Given the description of an element on the screen output the (x, y) to click on. 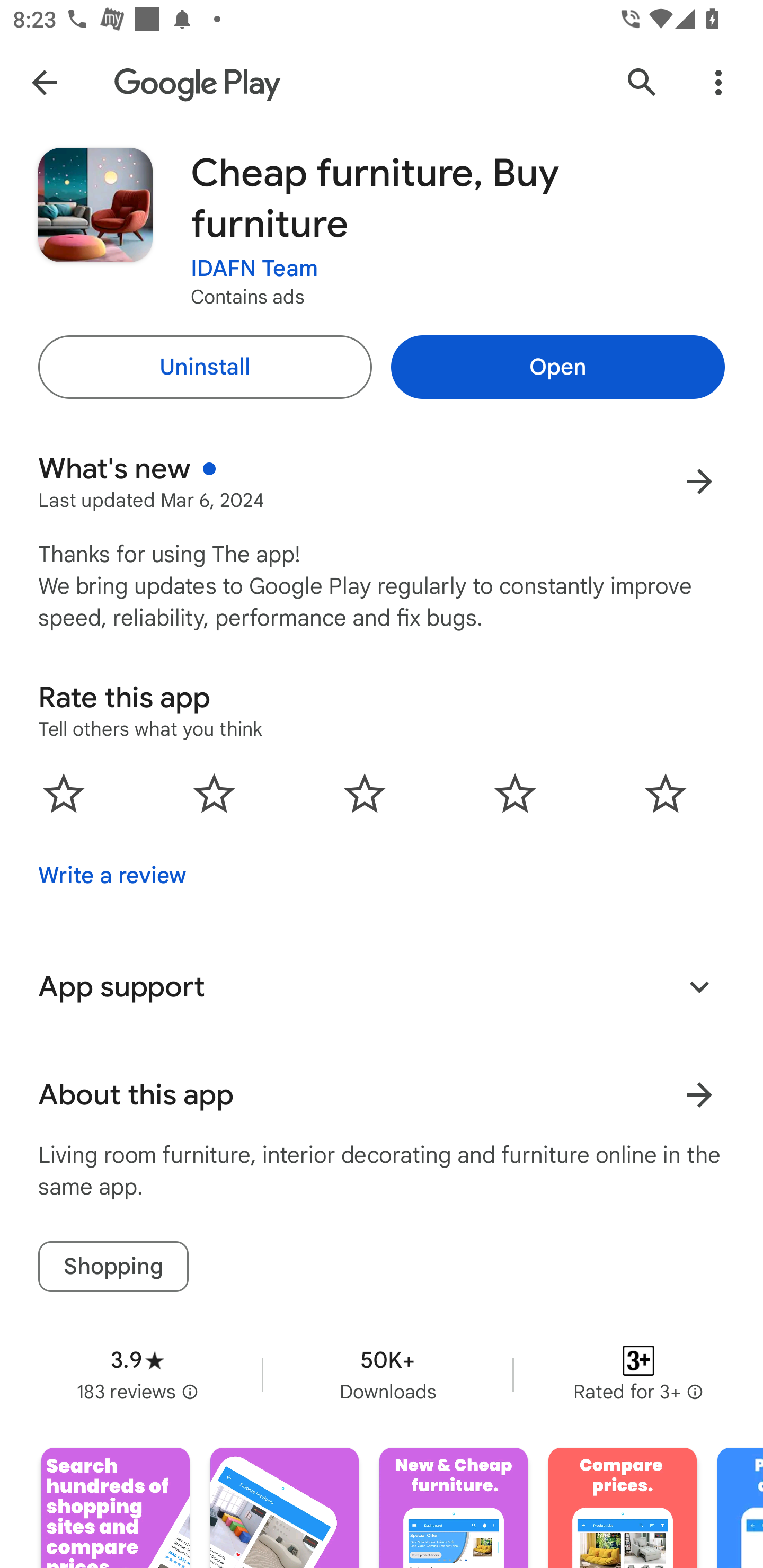
Navigate up (44, 81)
Search Google Play (642, 81)
More Options (718, 81)
IDAFN Team (254, 268)
Uninstall (205, 366)
Open (557, 366)
More results for What's new (699, 481)
0.0 (364, 792)
Write a review (112, 875)
App support Expand (381, 986)
Expand (699, 986)
About this app Learn more About this app (381, 1094)
Learn more About this app (699, 1094)
Shopping tag (113, 1265)
Average rating 3.9 stars in 183 reviews (137, 1374)
Content rating Rated for 3+ (638, 1374)
Screenshot "1" of "7" (115, 1507)
Screenshot "2" of "7" (284, 1507)
Screenshot "3" of "7" (453, 1507)
Screenshot "4" of "7" (622, 1507)
